Given the description of an element on the screen output the (x, y) to click on. 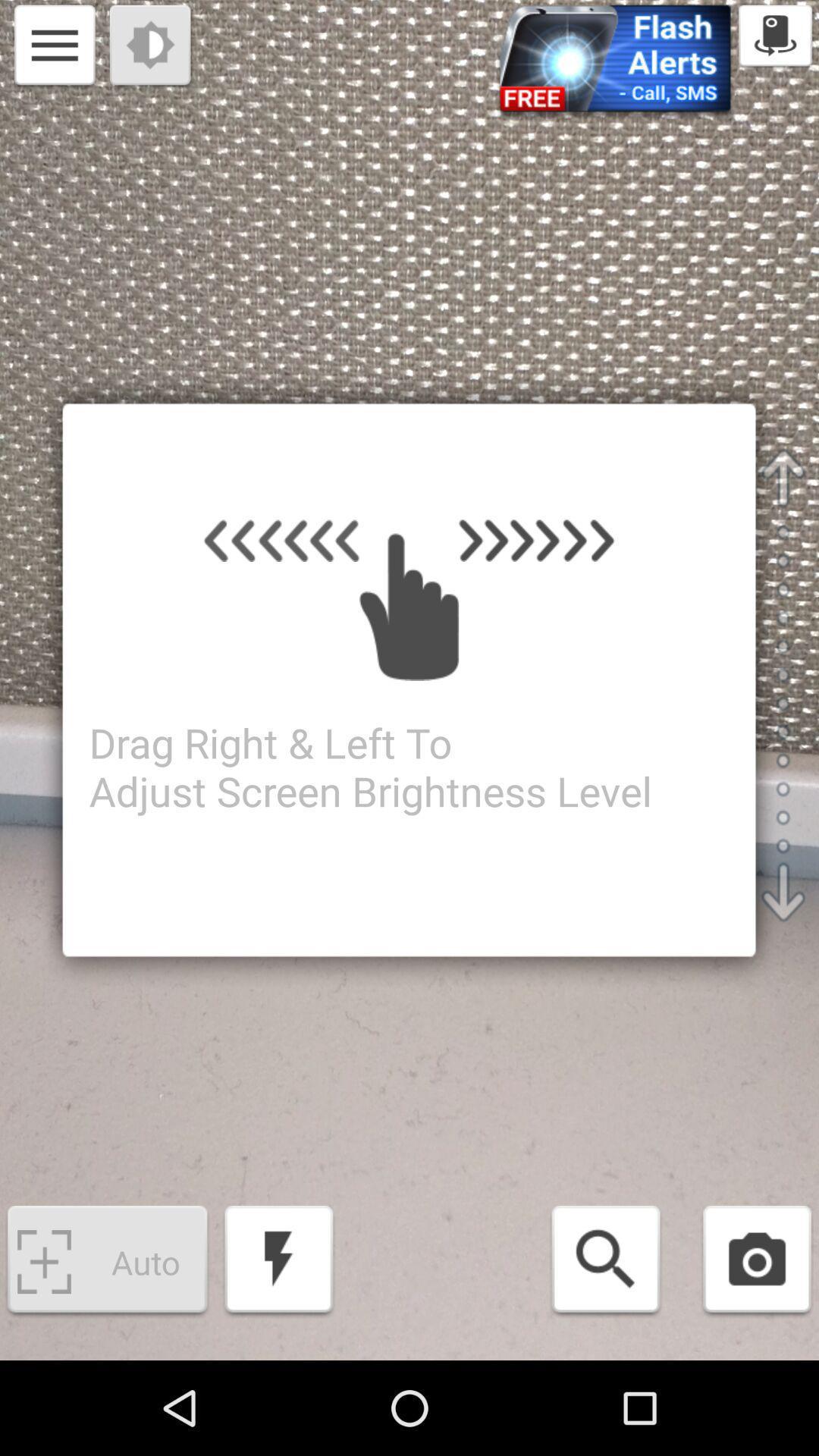
search (605, 1261)
